Given the description of an element on the screen output the (x, y) to click on. 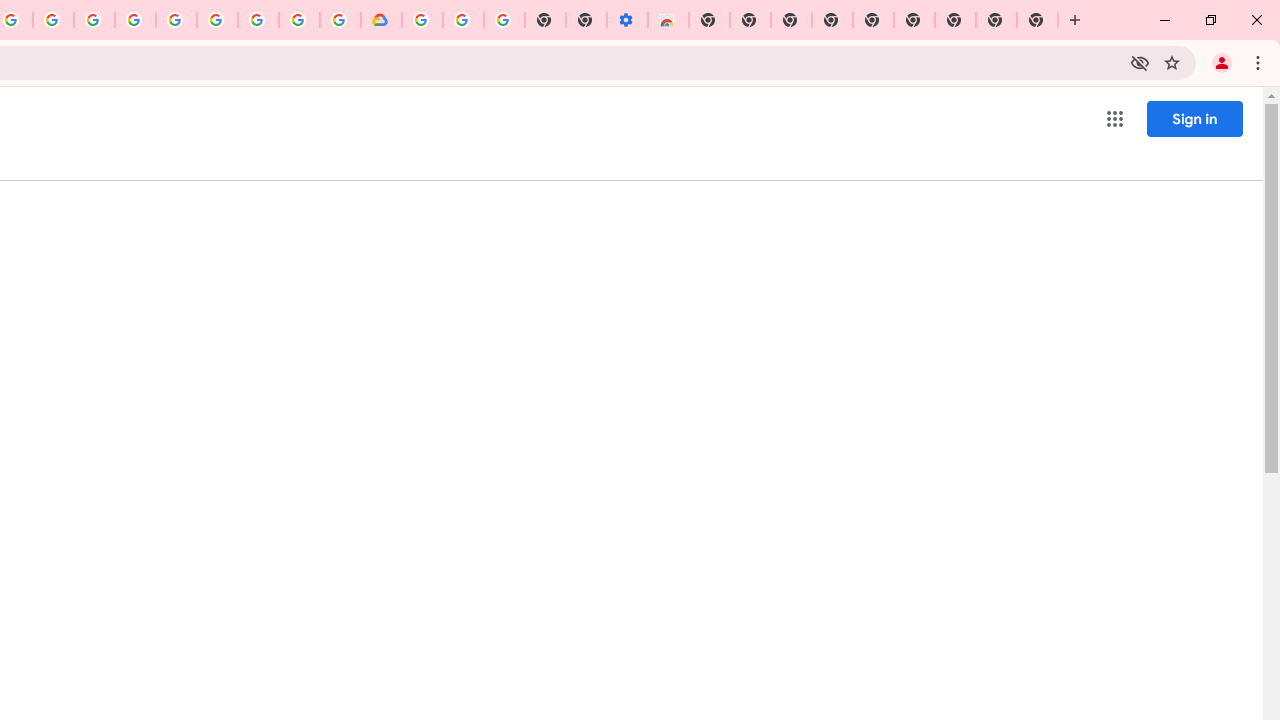
Turn cookies on or off - Computer - Google Account Help (503, 20)
Settings - Accessibility (626, 20)
Create your Google Account (53, 20)
Sign in - Google Accounts (176, 20)
Google Account Help (217, 20)
New Tab (1037, 20)
Browse the Google Chrome Community - Google Chrome Community (340, 20)
